Given the description of an element on the screen output the (x, y) to click on. 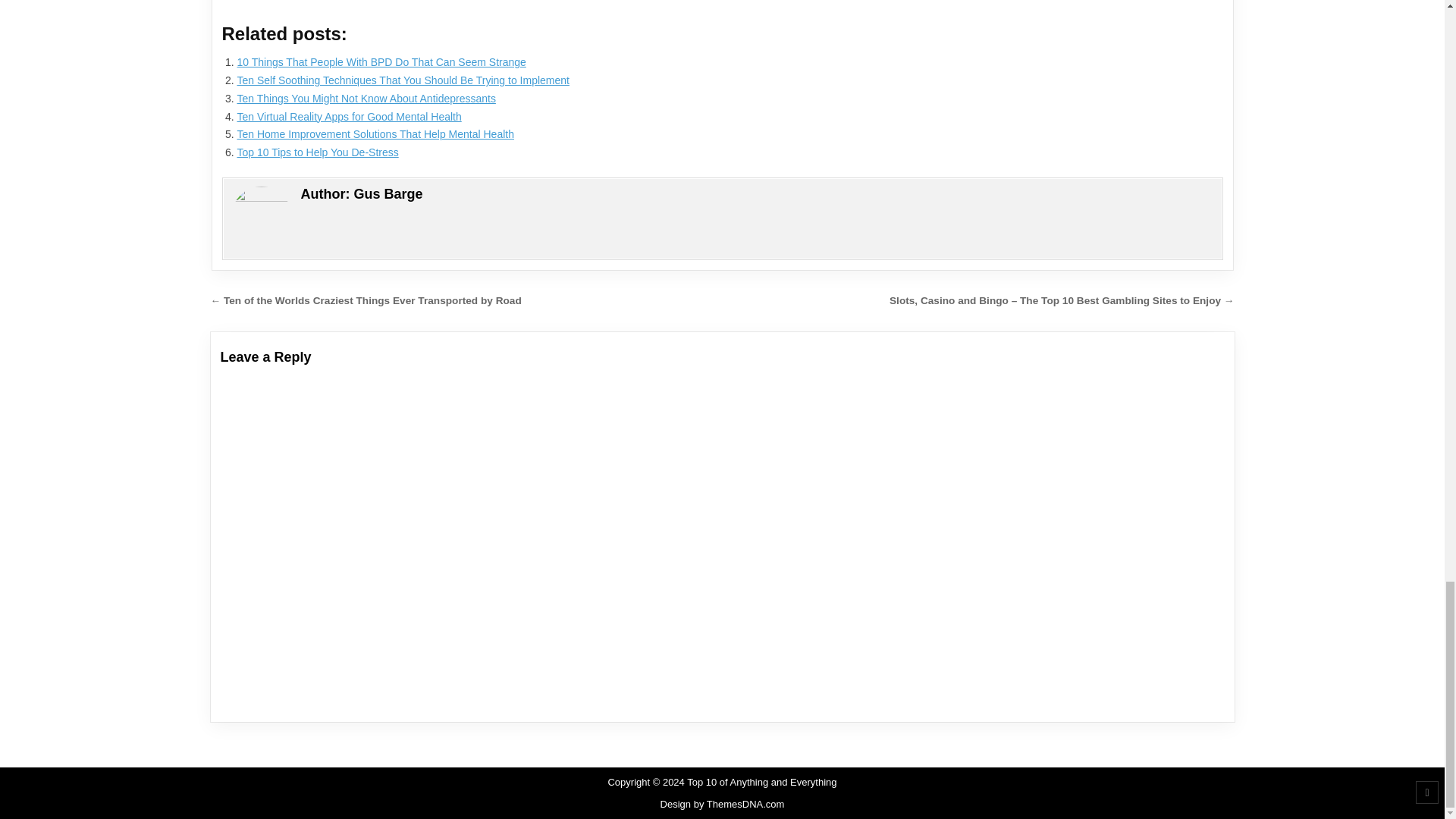
Top 10 Tips to Help You De-Stress (316, 152)
Design by ThemesDNA.com (722, 803)
Ten Things You Might Not Know About Antidepressants (365, 98)
10 Things That People With BPD Do That Can Seem Strange (380, 61)
Ten Virtual Reality Apps for Good Mental Health (348, 116)
Ten Home Improvement Solutions That Help Mental Health (374, 133)
Ten Things You Might Not Know About Antidepressants (365, 98)
10 Things That People With BPD Do That Can Seem Strange (380, 61)
Ten Virtual Reality Apps for Good Mental Health (348, 116)
